Given the description of an element on the screen output the (x, y) to click on. 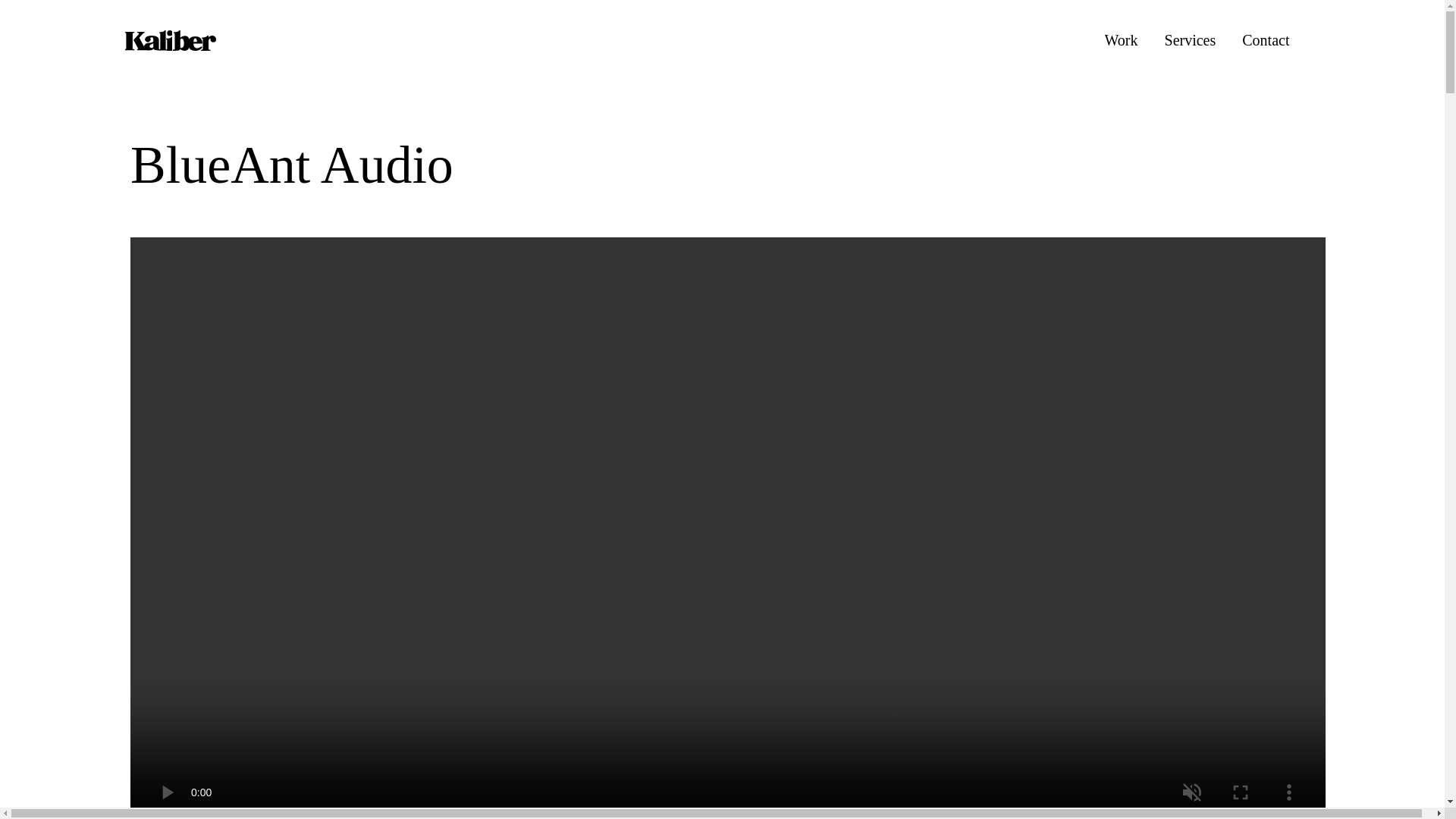
Kaliber Studio (169, 40)
Work (1121, 39)
Contact (1264, 39)
Services (1189, 39)
Contact (1264, 39)
Work (1121, 39)
Services (1189, 39)
